Given the description of an element on the screen output the (x, y) to click on. 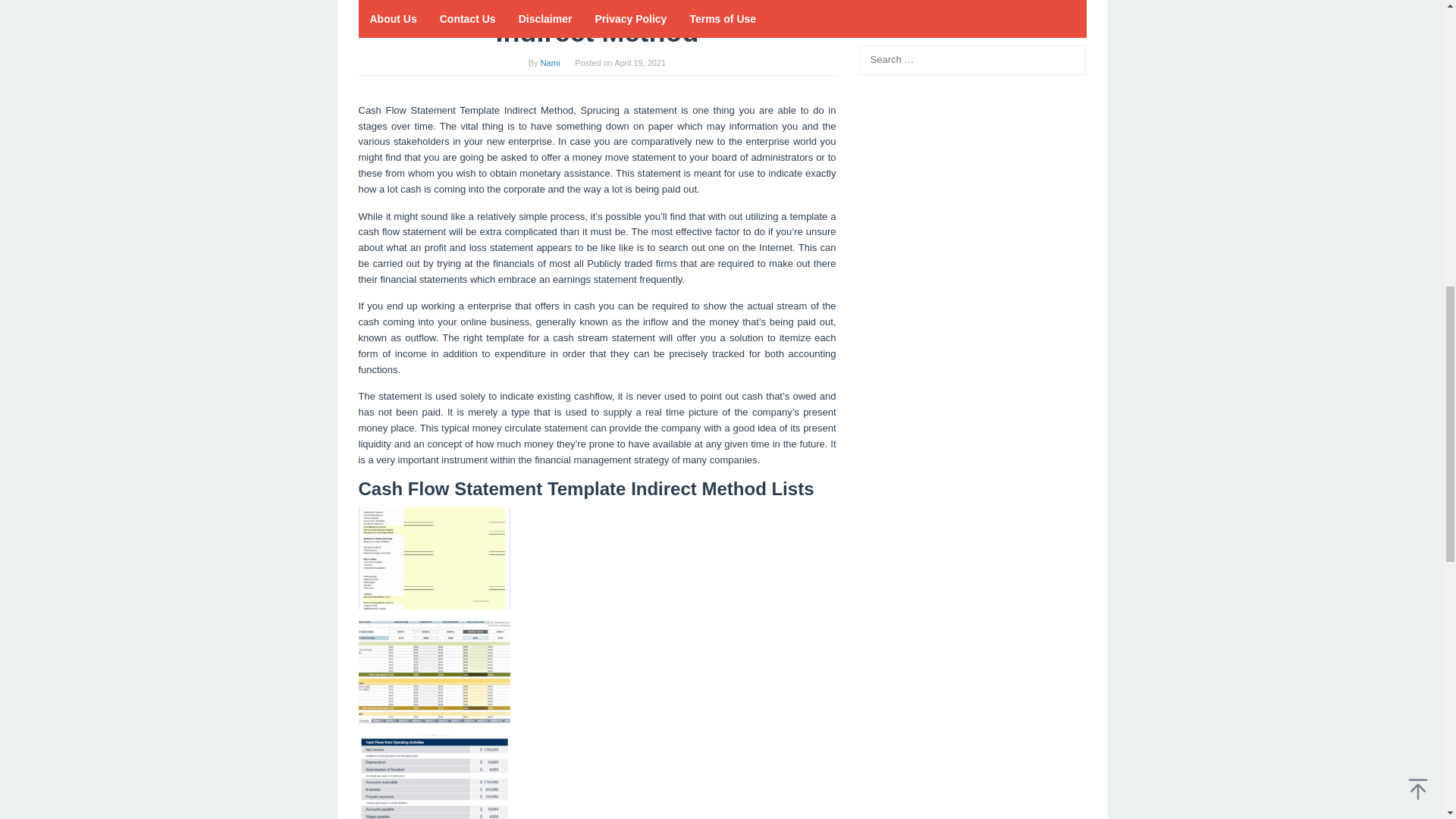
Installment Note Template: A Comprehensive Guide (971, 401)
Cash Flow Statement Template Indirect Method 1 (433, 557)
Sales Contractor Agreement Template (942, 449)
Cash Flow Statement Template Indirect Method 3 (433, 776)
Nami (550, 62)
Cash Flow Statement Template Indirect Method 2 (433, 671)
Permalink to: Nami (550, 62)
Cornell Notes Template Word Document (946, 471)
Invoice Template In Excel 2007 (926, 425)
Google Docs Travel Brochure Template (944, 495)
